Given the description of an element on the screen output the (x, y) to click on. 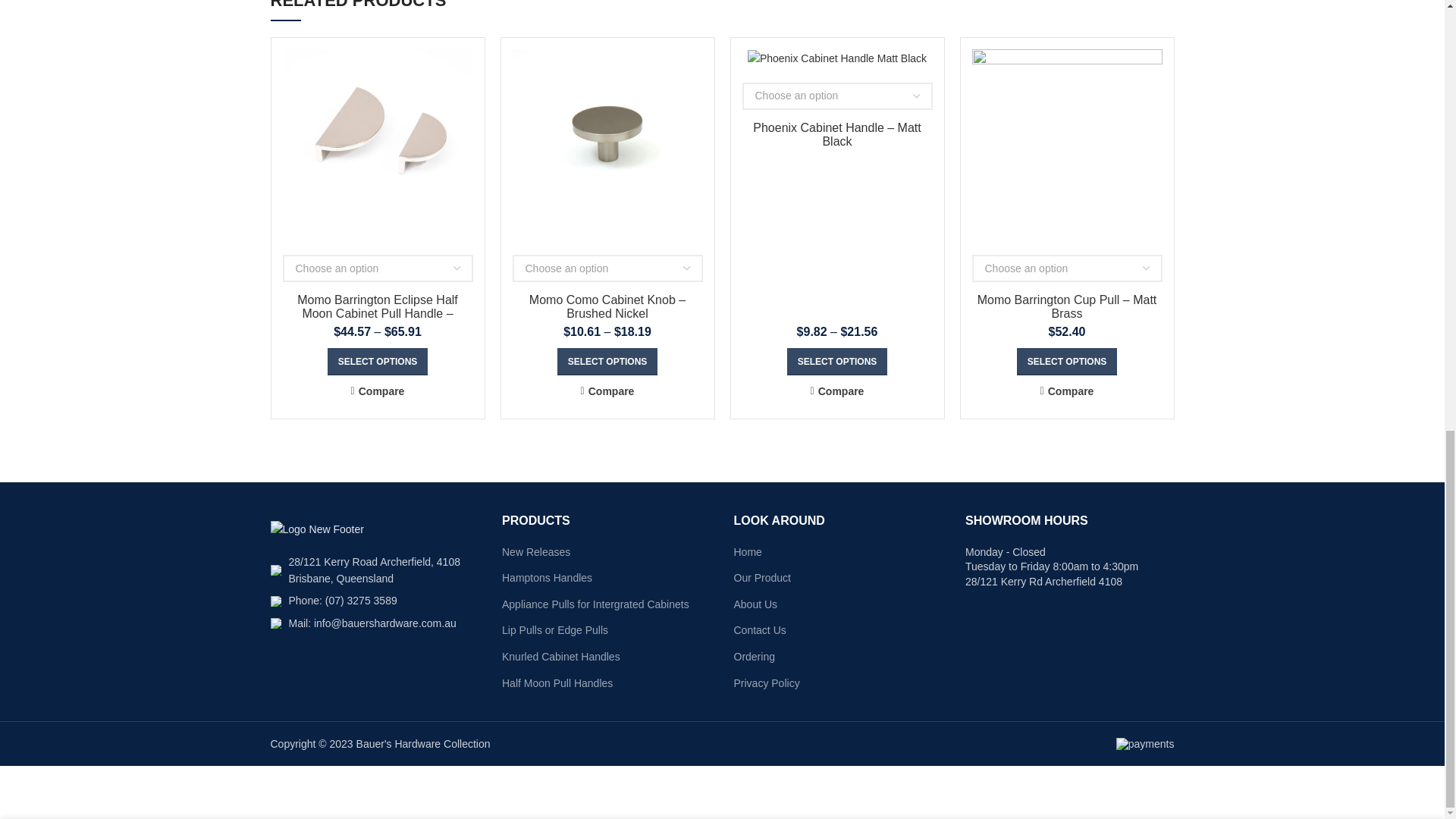
wd phone dark (275, 601)
wd envelope dark (275, 623)
wd cursor dark (275, 570)
